Given the description of an element on the screen output the (x, y) to click on. 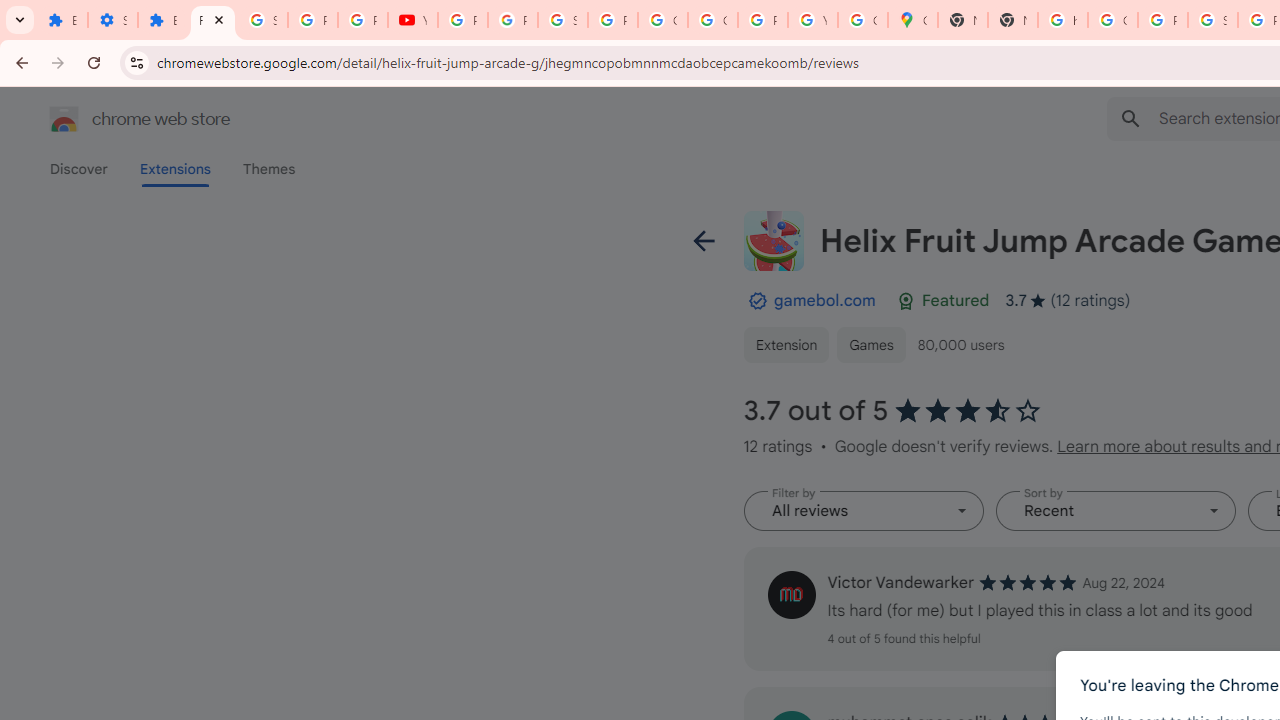
YouTube (412, 20)
New Tab (1013, 20)
Extensions (62, 20)
https://scholar.google.com/ (1062, 20)
New Tab (963, 20)
YouTube (813, 20)
